Given the description of an element on the screen output the (x, y) to click on. 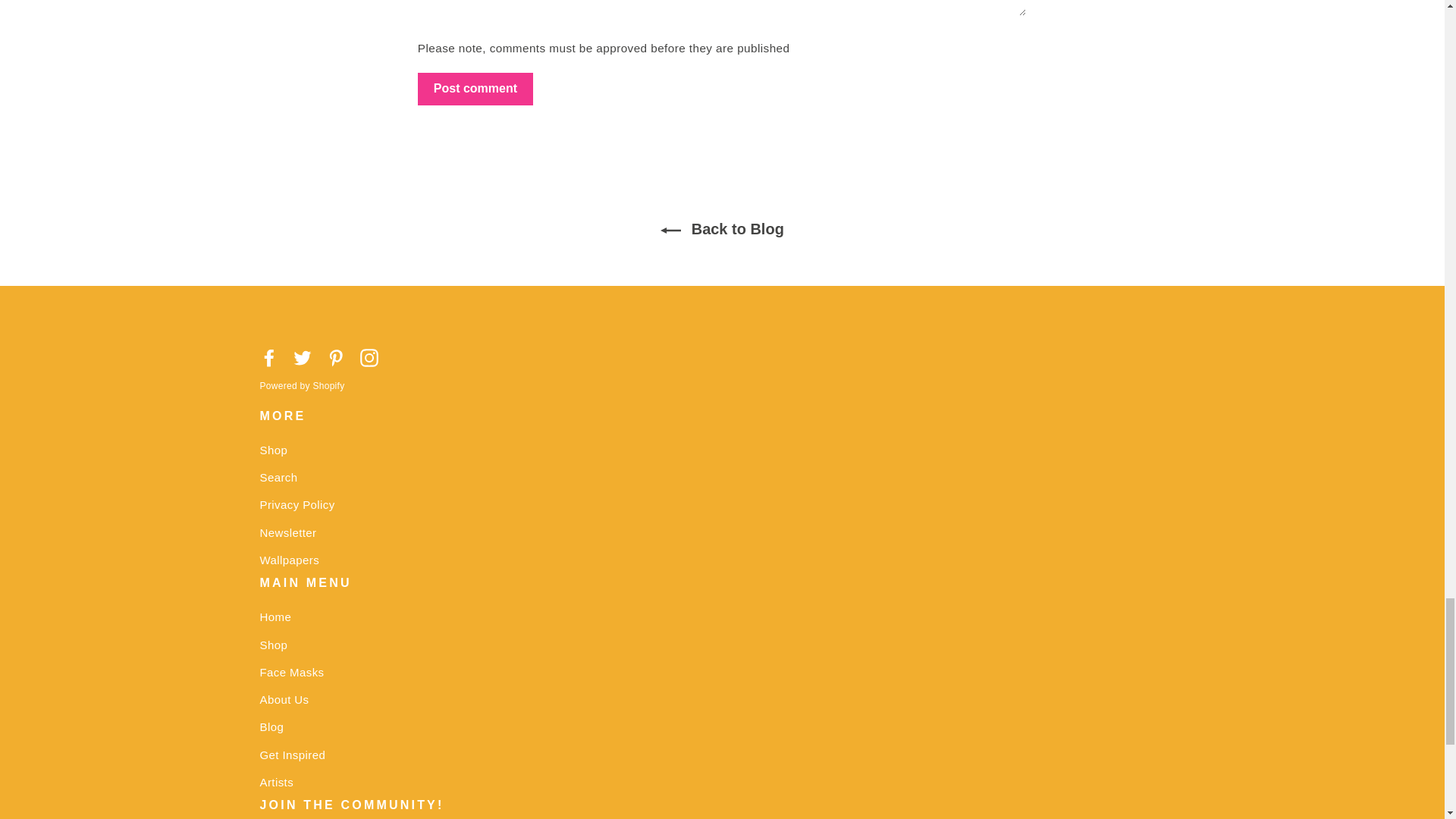
Just Girl Project on Instagram (368, 356)
Just Girl Project on Pinterest (335, 356)
Just Girl Project on Twitter (302, 356)
Post comment (474, 88)
